Given the description of an element on the screen output the (x, y) to click on. 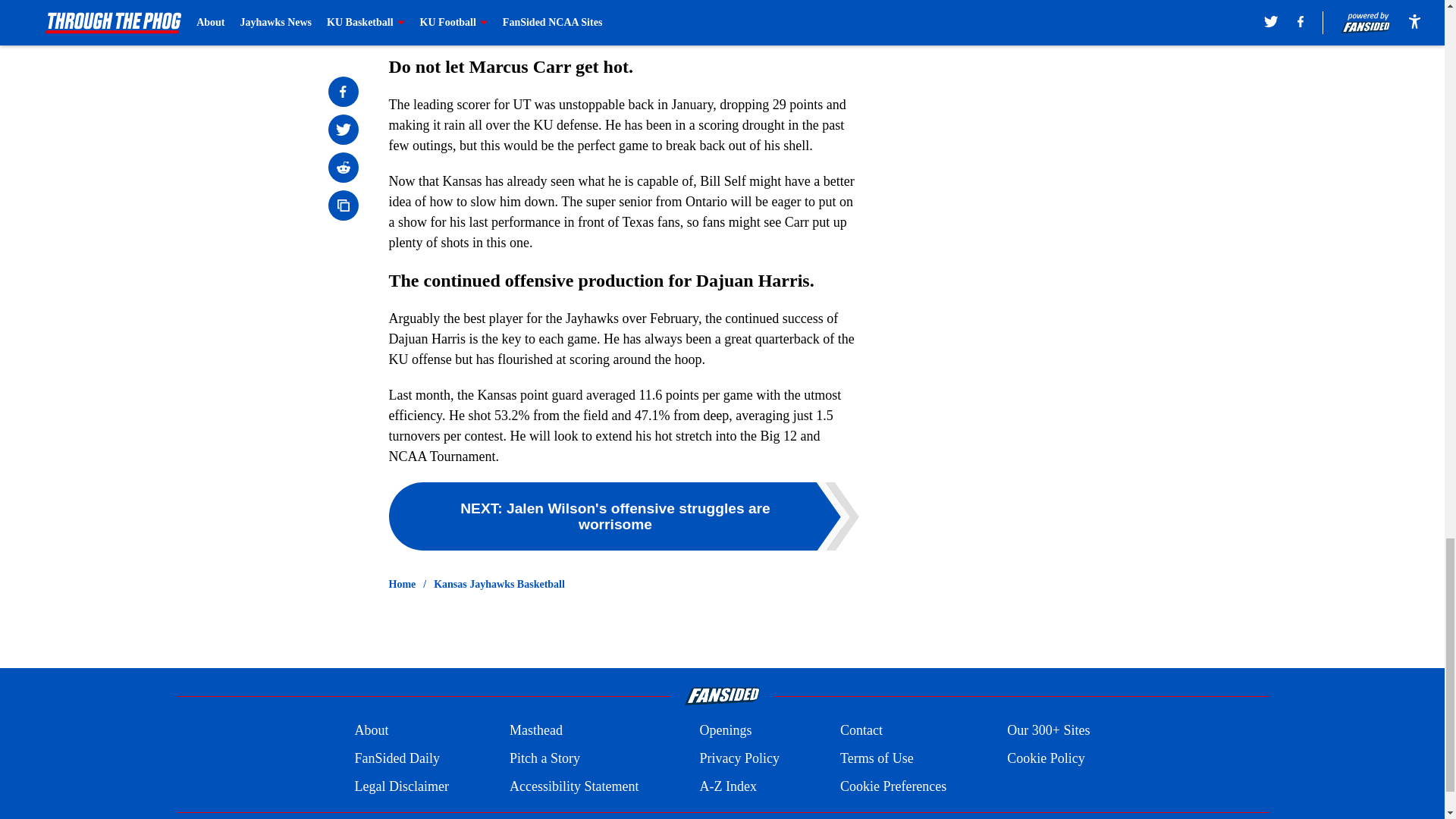
Kansas Jayhawks Basketball (498, 584)
About (370, 730)
A-Z Index (726, 786)
Legal Disclaimer (400, 786)
Privacy Policy (738, 758)
Home (401, 584)
Accessibility Statement (574, 786)
Masthead (535, 730)
Pitch a Story (544, 758)
NEXT: Jalen Wilson's offensive struggles are worrisome (623, 516)
Cookie Policy (1045, 758)
Openings (724, 730)
FanSided Daily (396, 758)
Terms of Use (877, 758)
Contact (861, 730)
